Given the description of an element on the screen output the (x, y) to click on. 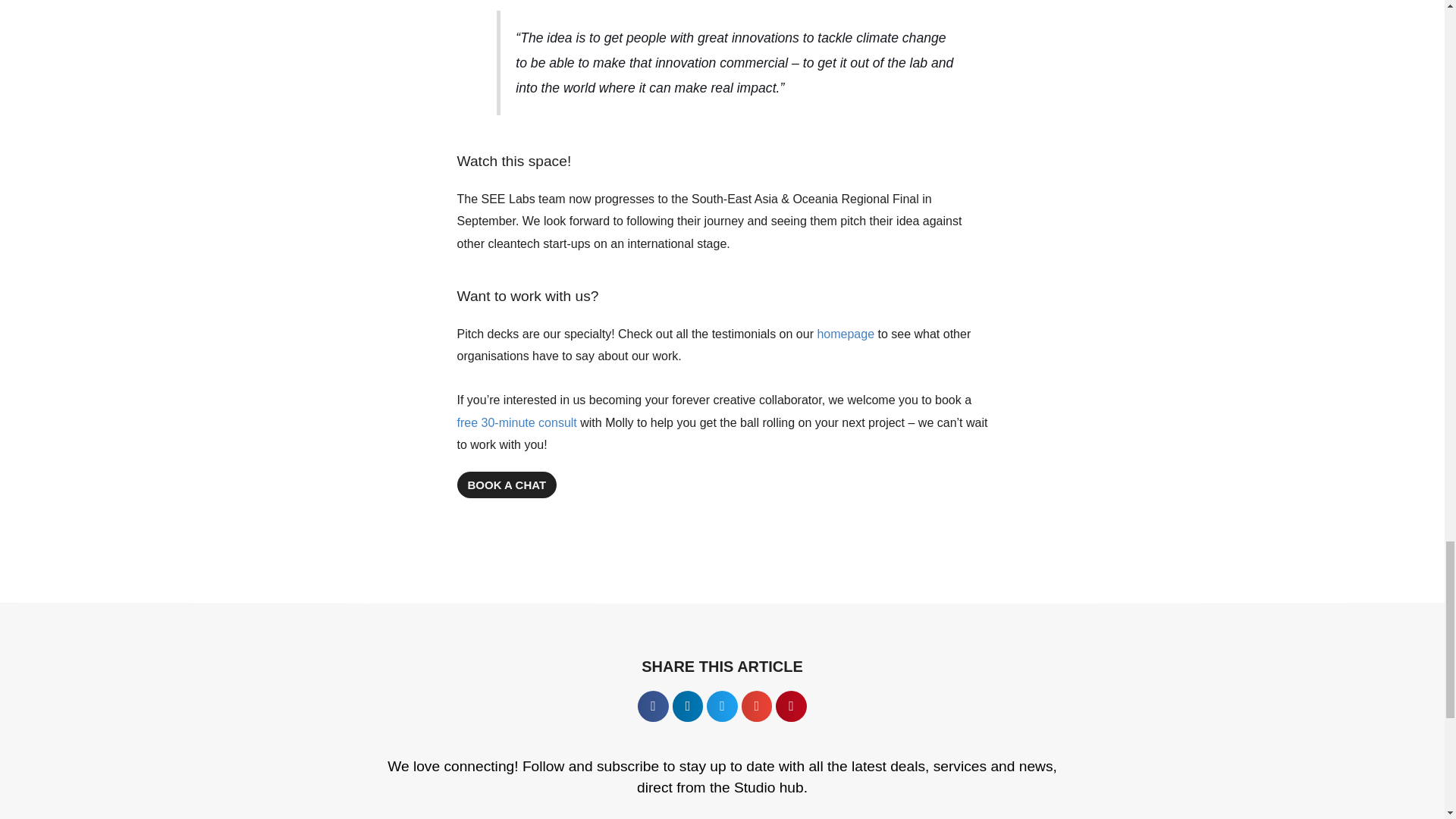
BOOK A CHAT (506, 484)
homepage (845, 333)
free 30-minute consult (516, 422)
